Given the description of an element on the screen output the (x, y) to click on. 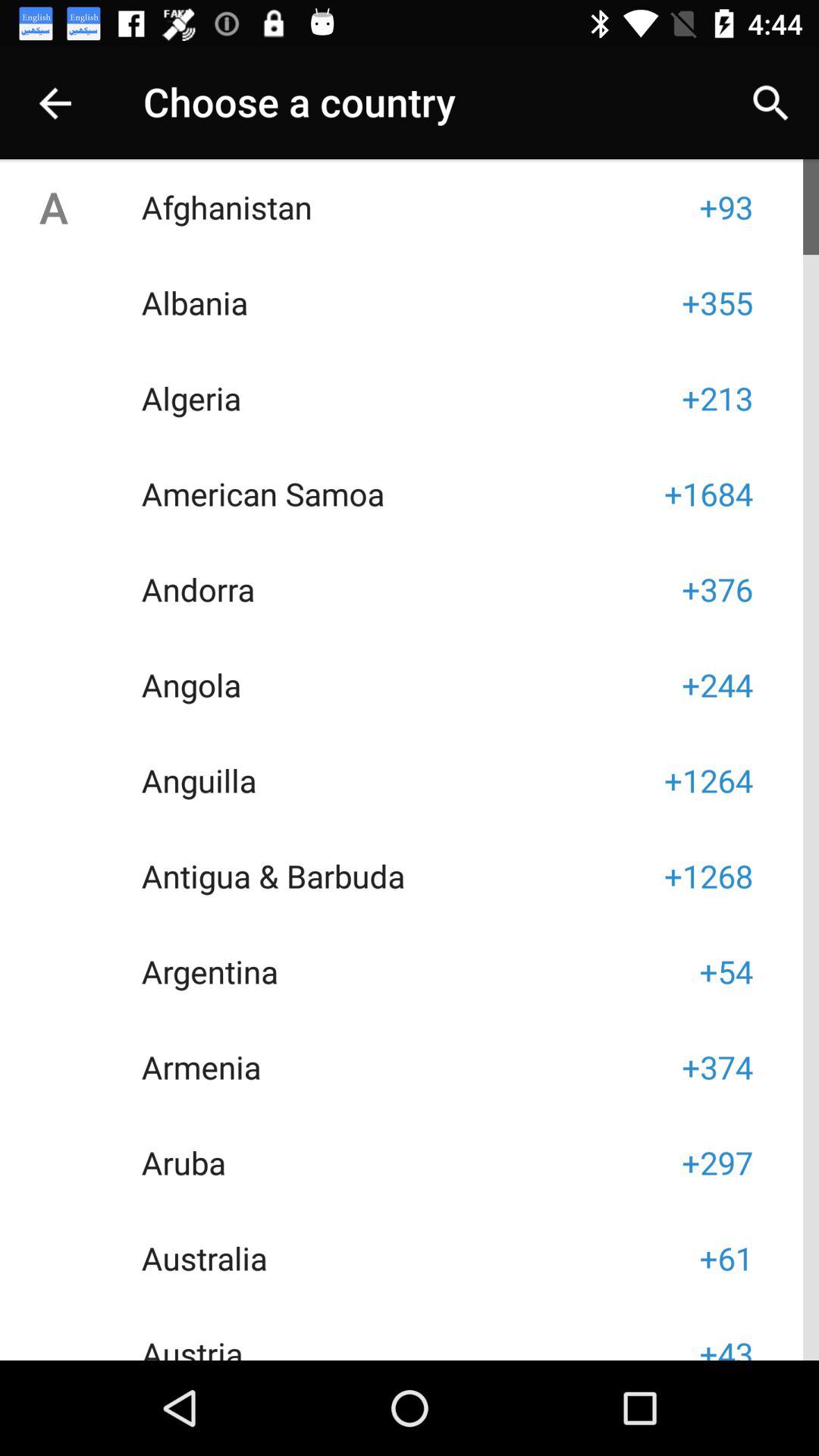
turn off the item at the top left corner (53, 103)
